Given the description of an element on the screen output the (x, y) to click on. 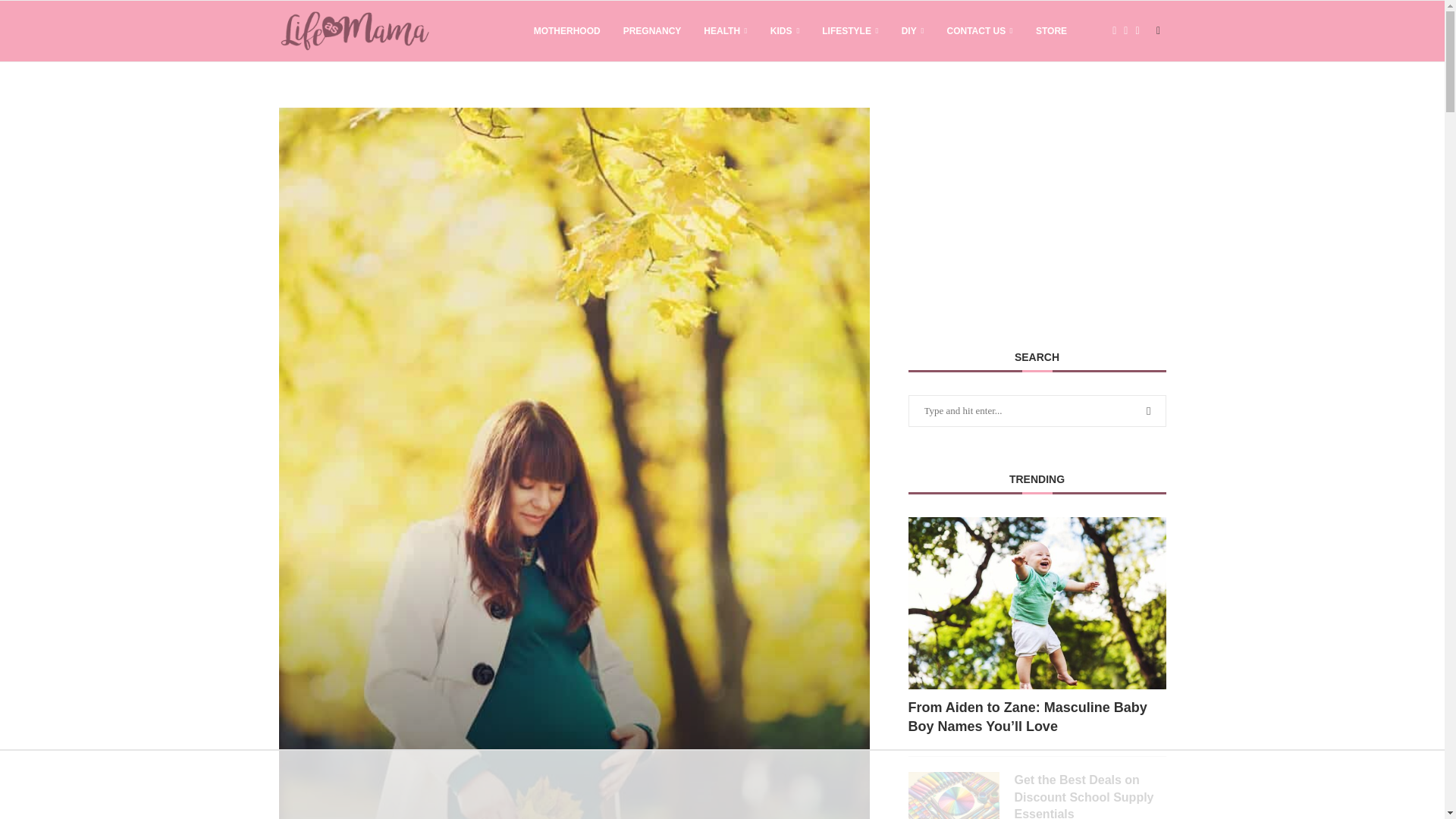
PREGNANCY (652, 30)
MOTHERHOOD (566, 30)
LIFESTYLE (849, 30)
CONTACT US (979, 30)
KIDS (784, 30)
DIY (912, 30)
STORE (1051, 30)
HEALTH (725, 30)
